Given the description of an element on the screen output the (x, y) to click on. 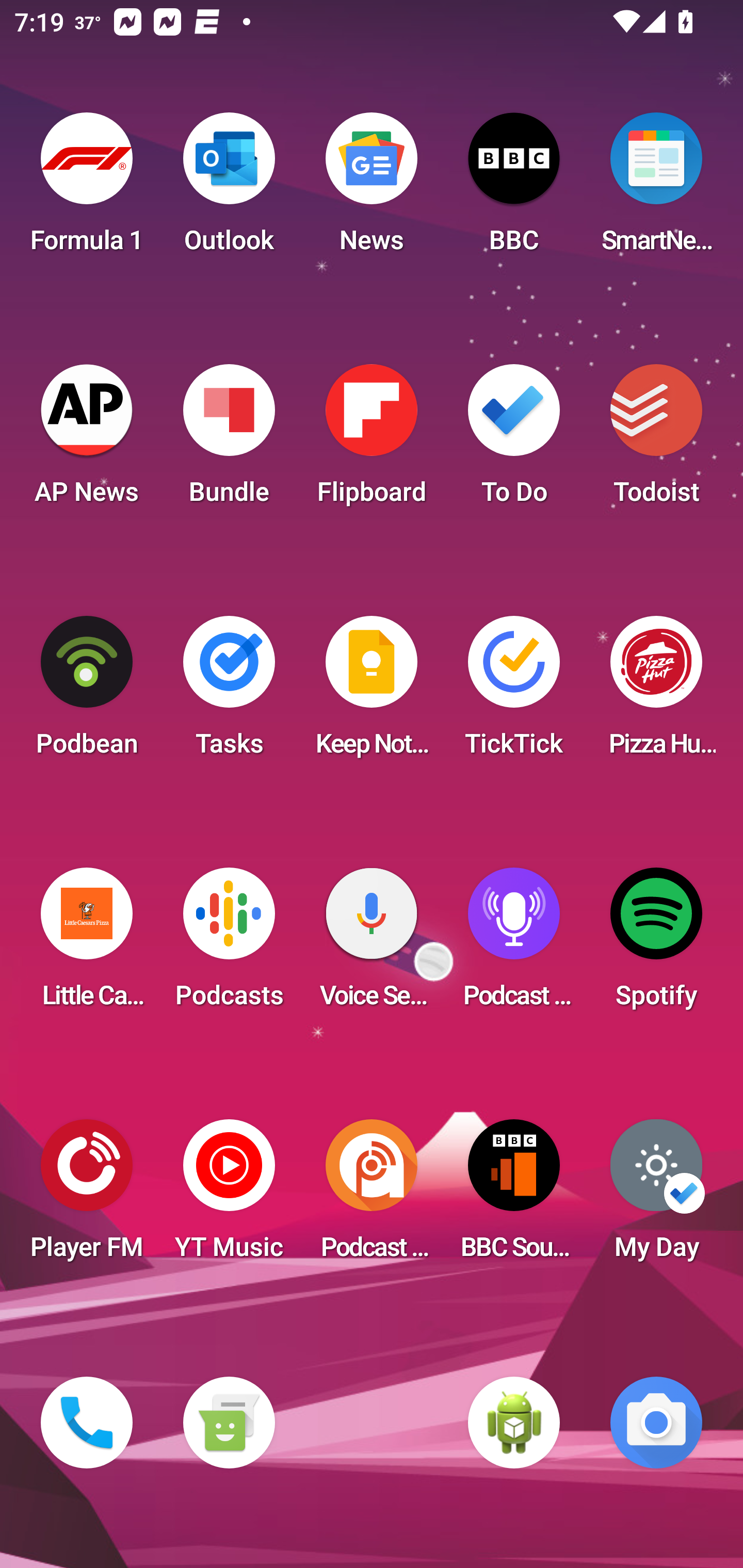
Formula 1 (86, 188)
Outlook (228, 188)
News (371, 188)
BBC (513, 188)
SmartNews (656, 188)
AP News (86, 440)
Bundle (228, 440)
Flipboard (371, 440)
To Do (513, 440)
Todoist (656, 440)
Podbean (86, 692)
Tasks (228, 692)
Keep Notes (371, 692)
TickTick (513, 692)
Pizza Hut HK & Macau (656, 692)
Little Caesars Pizza (86, 943)
Podcasts (228, 943)
Voice Search (371, 943)
Podcast Player (513, 943)
Spotify (656, 943)
Player FM (86, 1195)
YT Music (228, 1195)
Podcast Addict (371, 1195)
BBC Sounds (513, 1195)
My Day (656, 1195)
Phone (86, 1422)
Messaging (228, 1422)
WebView Browser Tester (513, 1422)
Camera (656, 1422)
